Given the description of an element on the screen output the (x, y) to click on. 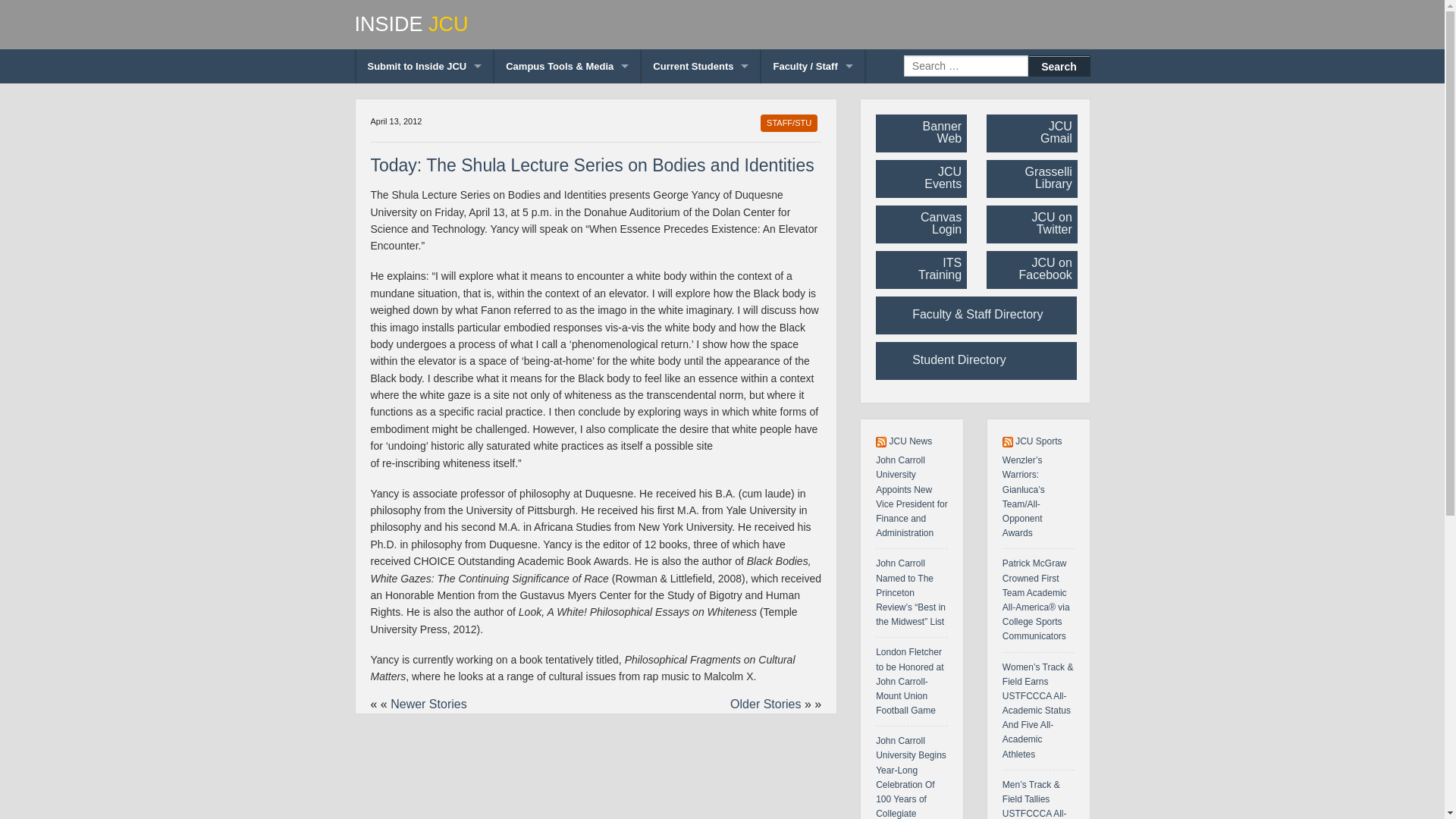
INSIDE JCU (722, 24)
Current Students (701, 66)
Search (1058, 65)
Search (1058, 65)
Submit to Inside JCU (424, 66)
Search for: (965, 65)
